Given the description of an element on the screen output the (x, y) to click on. 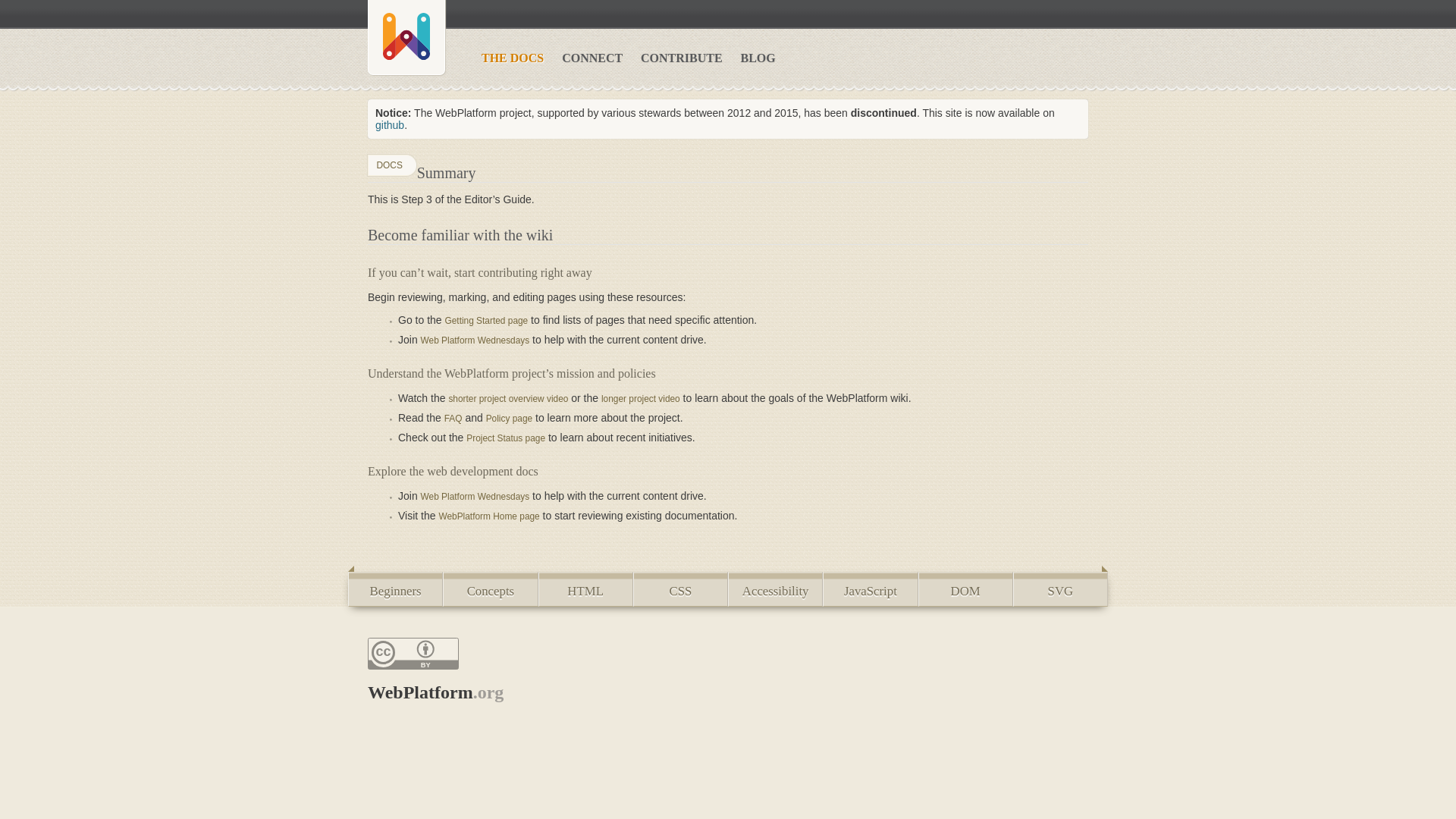
WebPlatform.org (435, 692)
github (389, 124)
JavaScript (869, 588)
CONTRIBUTE (689, 57)
DOCS (392, 164)
Visit the home page (406, 37)
Getting Started page (485, 320)
BLOG (765, 57)
THE DOCS (520, 57)
CSS (680, 588)
Concepts (489, 588)
WebPlatform Home page (488, 516)
Beginners (394, 588)
Web Platform Wednesdays (474, 339)
SVG (1060, 588)
